Given the description of an element on the screen output the (x, y) to click on. 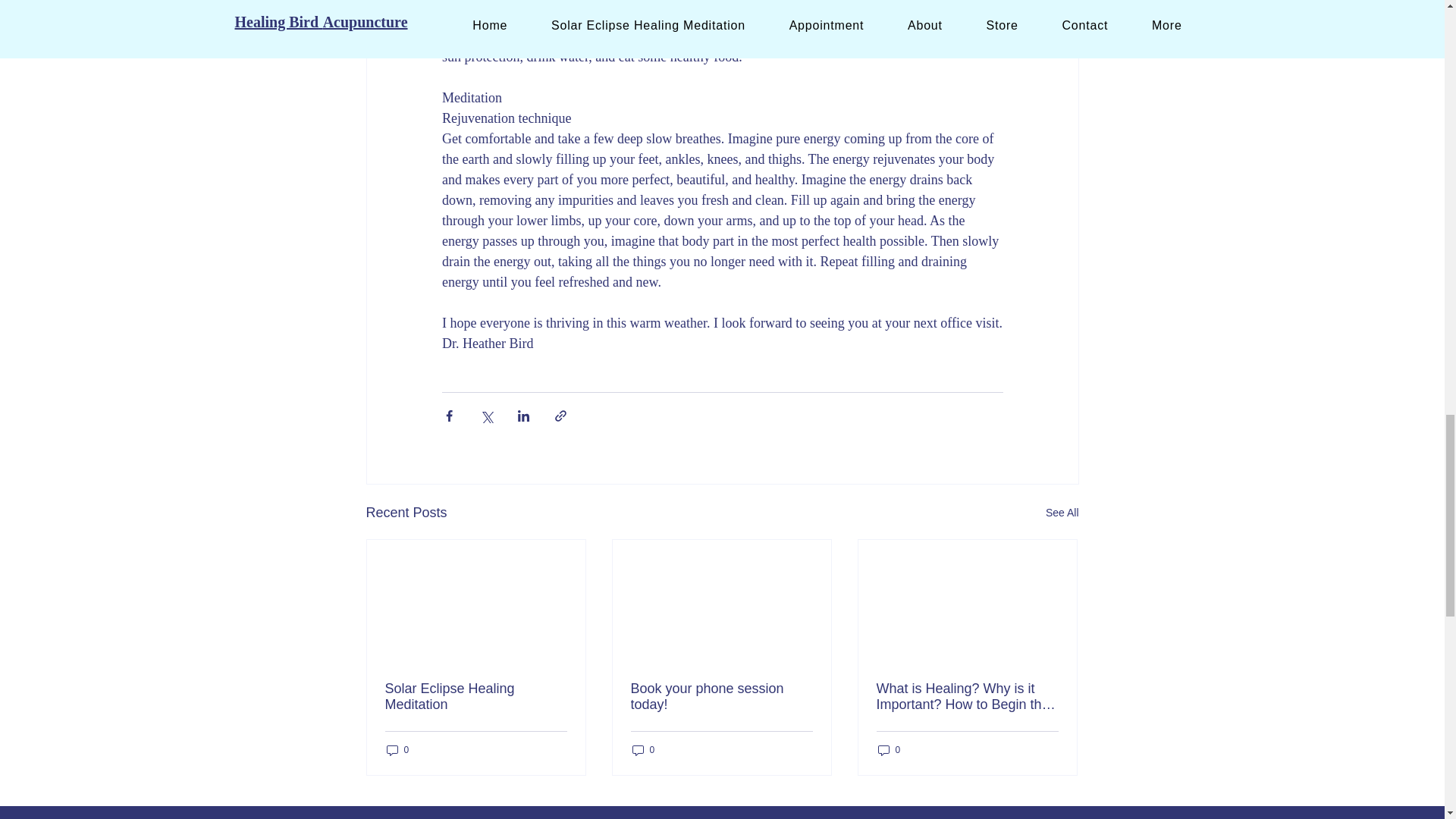
0 (889, 749)
Solar Eclipse Healing Meditation (476, 696)
Book your phone session today! (721, 696)
0 (397, 749)
0 (643, 749)
See All (1061, 513)
